Given the description of an element on the screen output the (x, y) to click on. 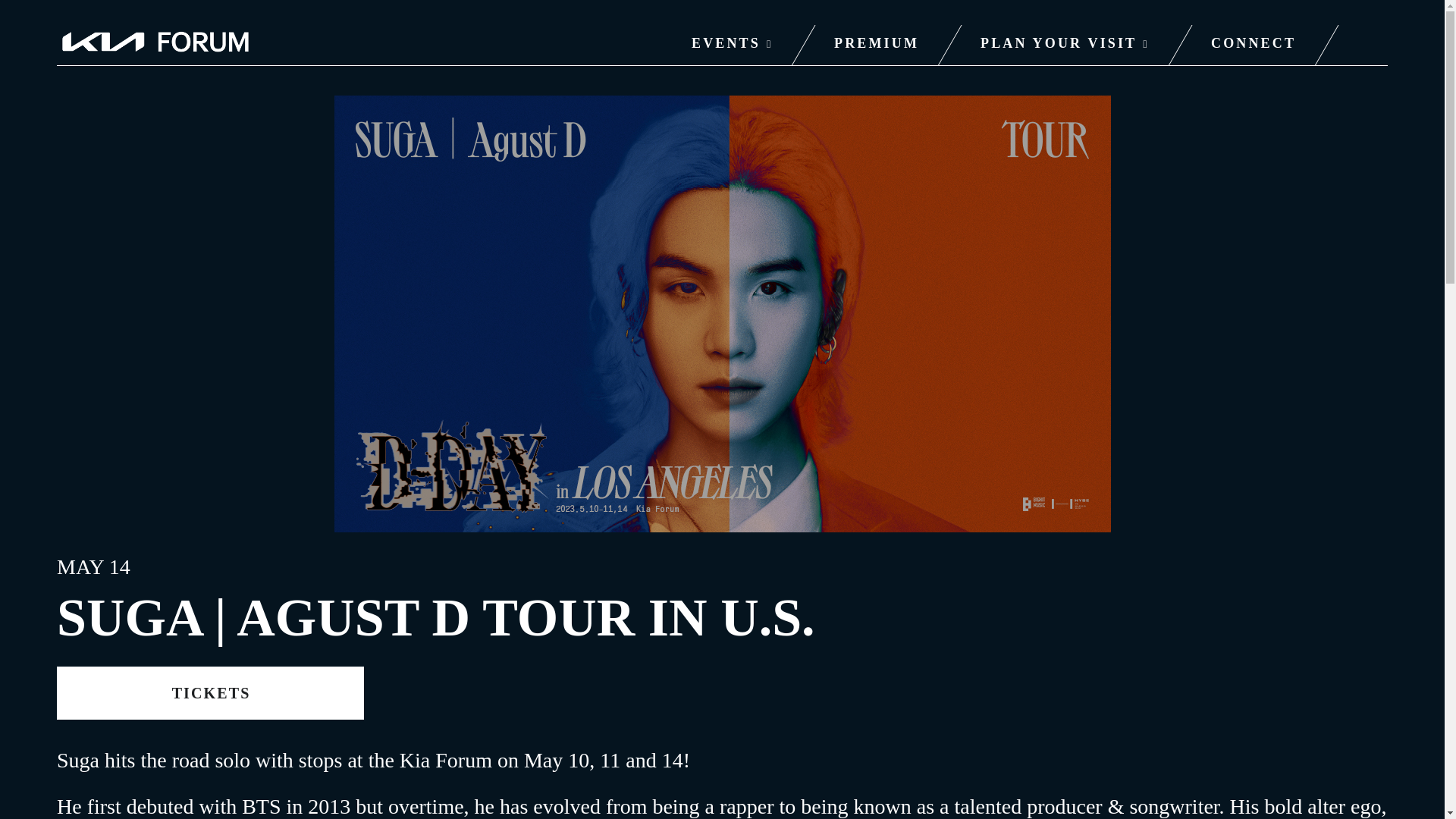
Premium (876, 45)
EVENTS (732, 45)
CONNECT (1253, 45)
Events (732, 45)
PREMIUM (876, 45)
TICKETS (210, 692)
Connect (1253, 45)
PLAN YOUR VISIT (1064, 45)
Plan Your Visit (1064, 45)
